Given the description of an element on the screen output the (x, y) to click on. 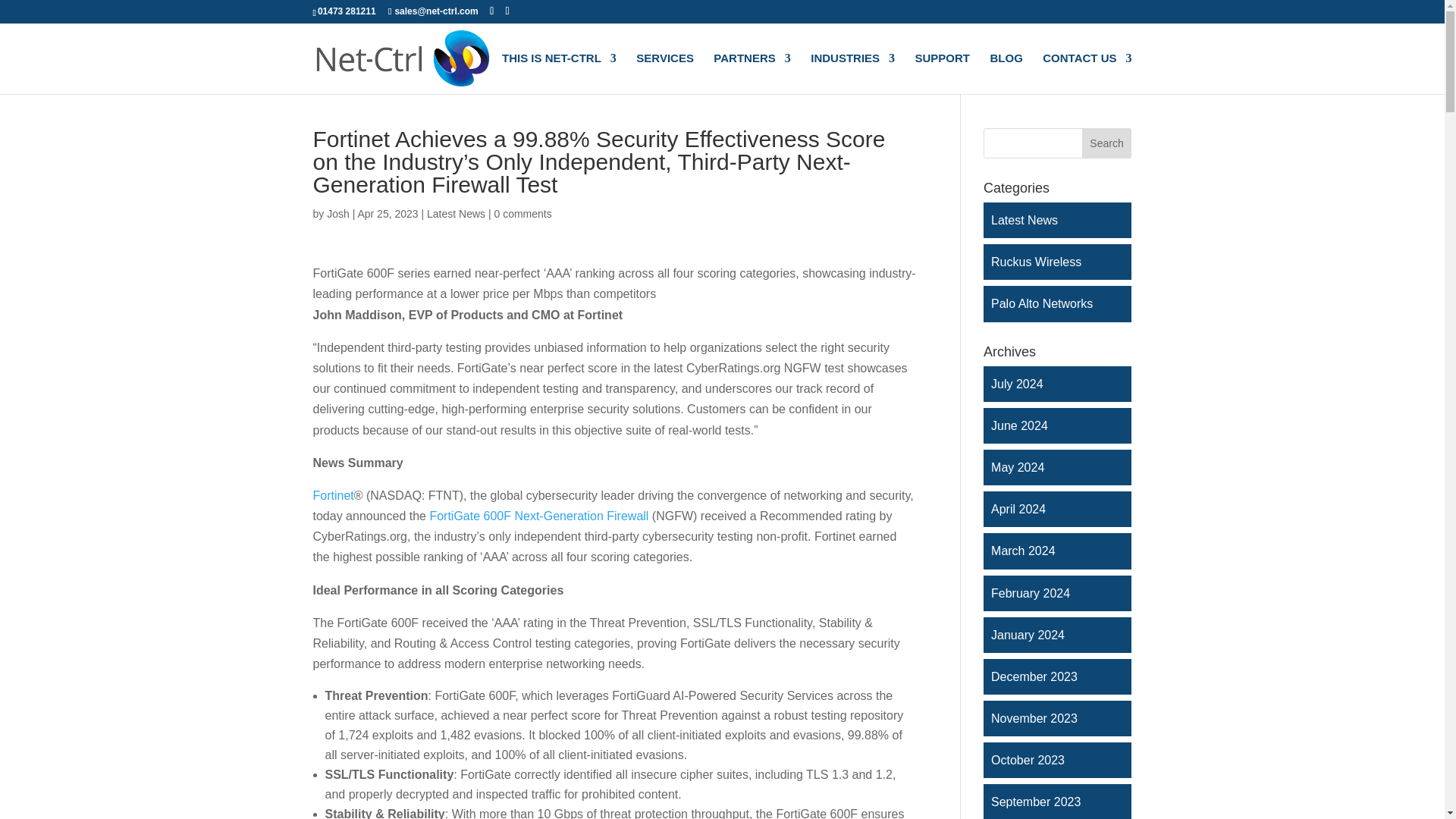
01473 281211 (346, 10)
Posts by Josh (337, 214)
THIS IS NET-CTRL (558, 73)
Search (1106, 142)
SERVICES (665, 73)
